Given the description of an element on the screen output the (x, y) to click on. 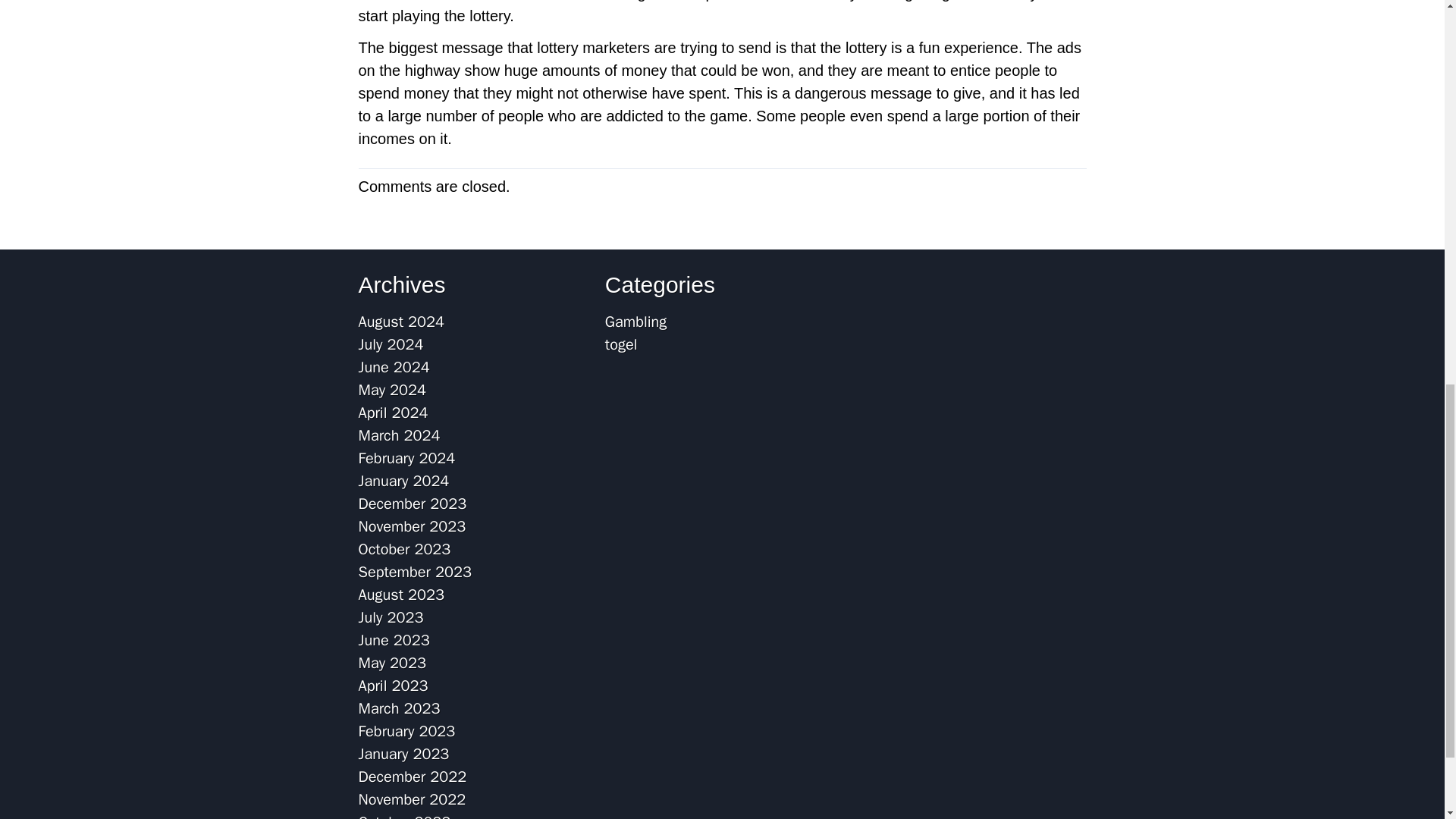
October 2022 (403, 816)
June 2024 (393, 366)
April 2023 (393, 685)
March 2023 (398, 708)
March 2024 (398, 435)
November 2023 (411, 526)
February 2023 (406, 731)
August 2023 (401, 594)
September 2023 (414, 571)
May 2024 (392, 389)
